Given the description of an element on the screen output the (x, y) to click on. 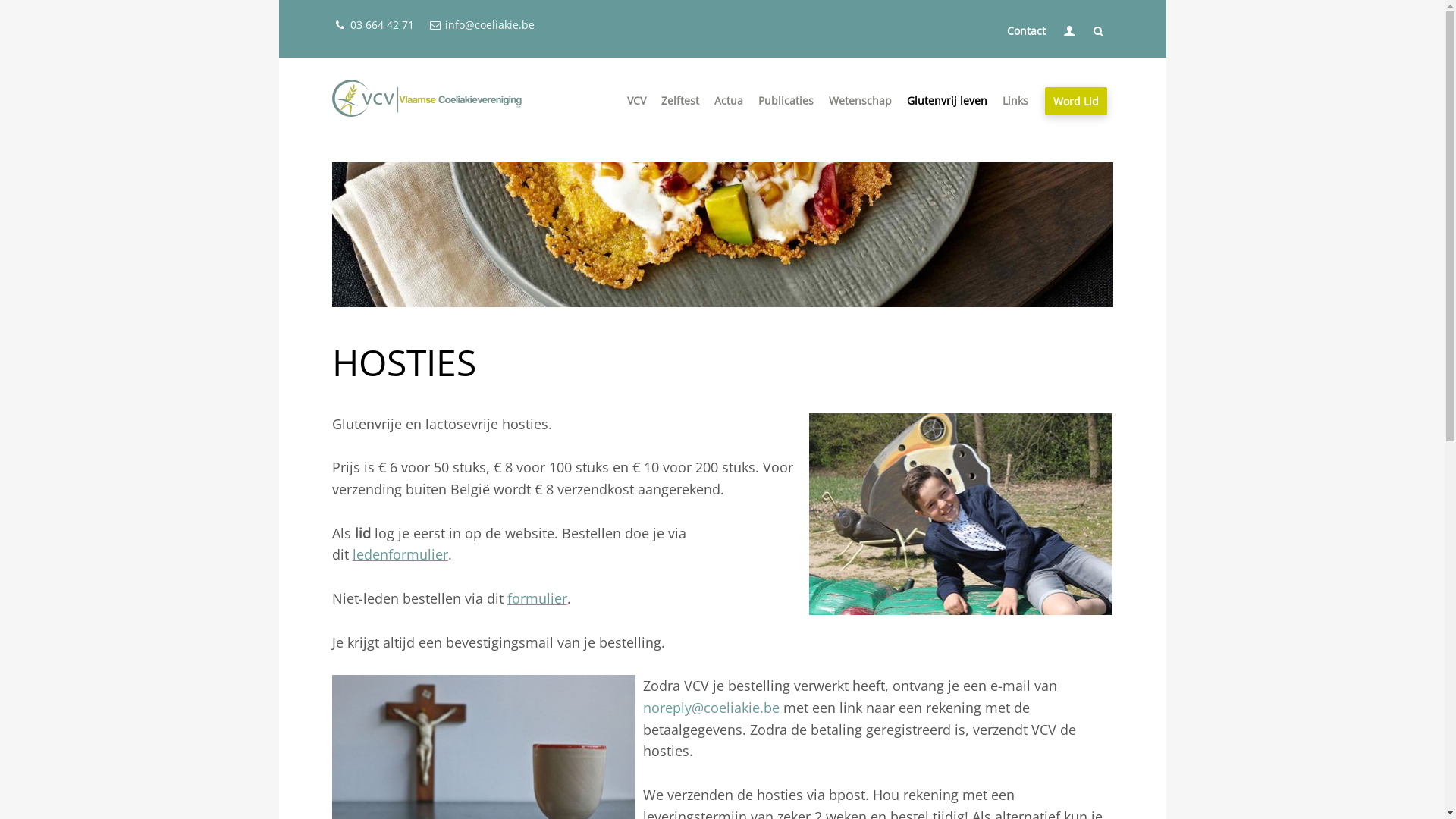
Nieuws Element type: text (789, 123)
Wetenschap Element type: text (860, 100)
Coeliakie magazine Element type: text (833, 123)
Publicaties Element type: text (785, 100)
Andere glutenvrije activiteiten Element type: text (789, 130)
Wat is coeliakie? Element type: text (904, 123)
Actua Element type: text (728, 100)
Zelftest Element type: text (679, 100)
Historiek Element type: text (702, 123)
Word Lid Element type: text (1075, 101)
Links Element type: text (1014, 100)
ledenformulier Element type: text (400, 554)
Glutenvrij dieet Element type: text (982, 123)
VCV Element type: text (636, 100)
Contact Element type: text (1026, 30)
noreply@coeliakie.be Element type: text (711, 707)
Ons e-mailadres:
info@coeliakie.be Element type: text (481, 24)
Glutenvrij leven Element type: text (946, 100)
Terug naar de homepagina Element type: hover (426, 100)
formulier Element type: text (537, 598)
Login bij VCV Element type: text (1038, 53)
